Given the description of an element on the screen output the (x, y) to click on. 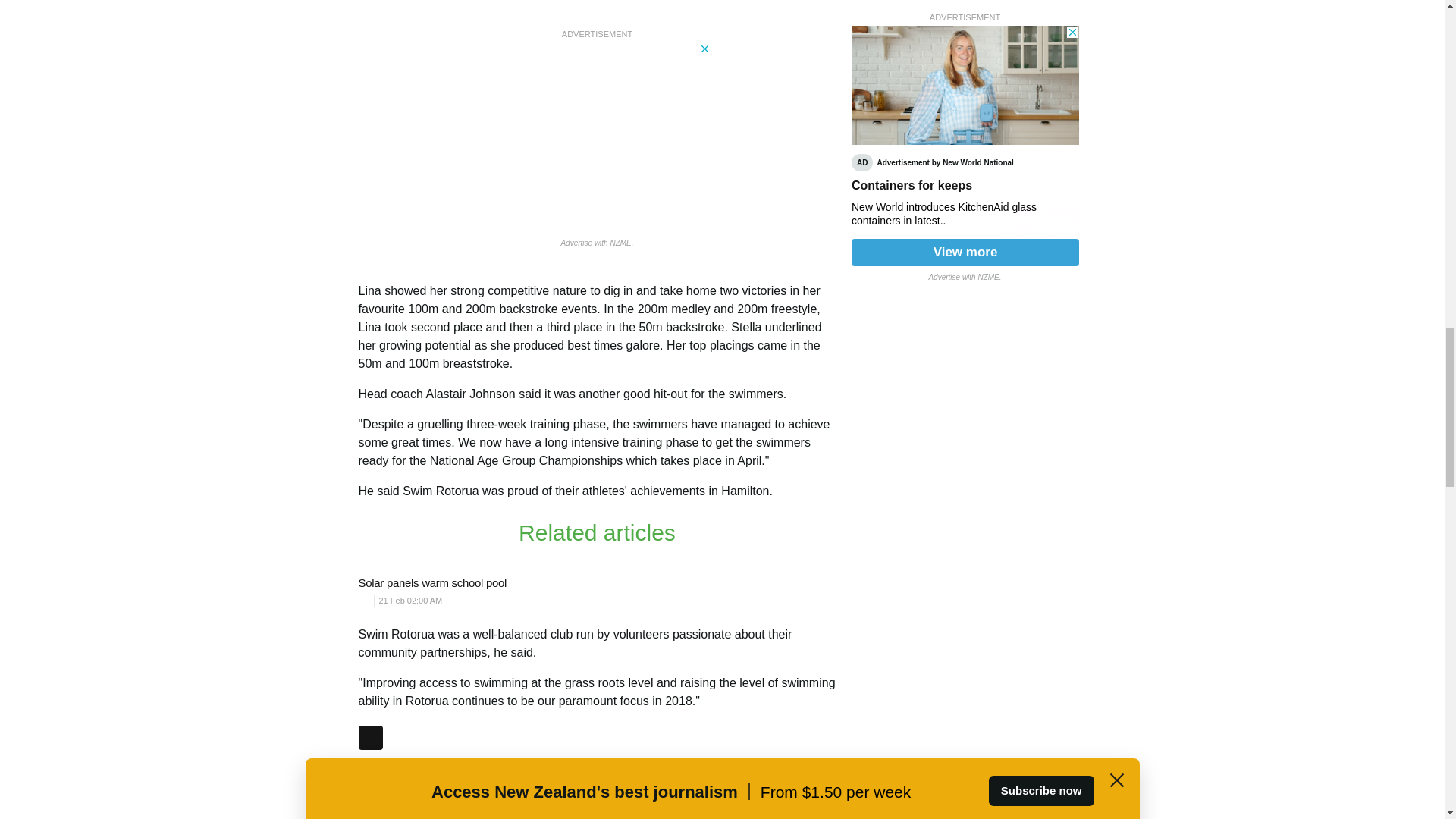
3rd party ad content (964, 132)
3rd party ad content (597, 136)
